Given the description of an element on the screen output the (x, y) to click on. 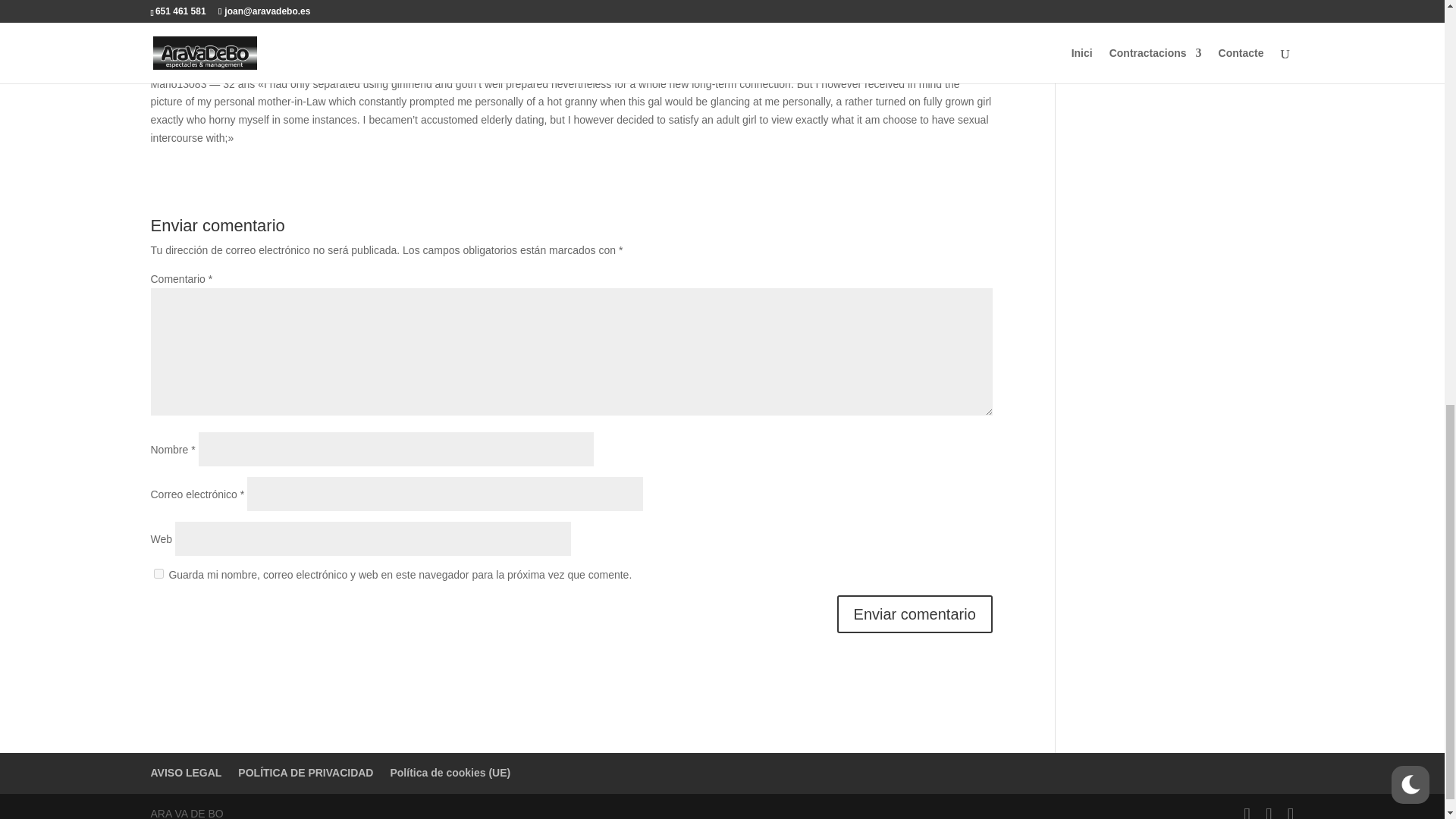
yes (157, 573)
Enviar comentario (914, 614)
Enviar comentario (914, 614)
AVISO LEGAL (185, 772)
